Given the description of an element on the screen output the (x, y) to click on. 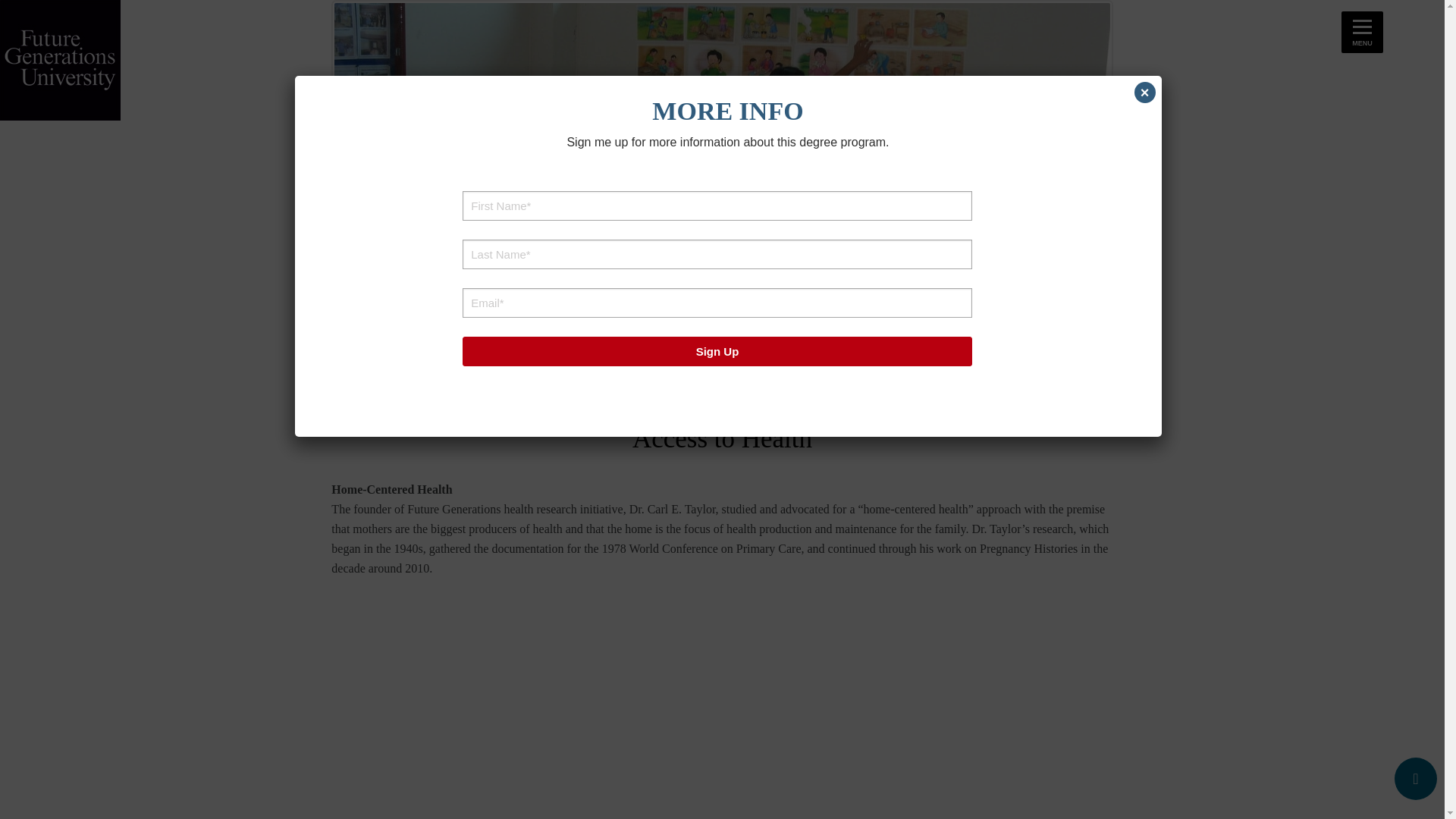
Nivare sanitary 21 (721, 708)
Sign Up (717, 351)
